Given the description of an element on the screen output the (x, y) to click on. 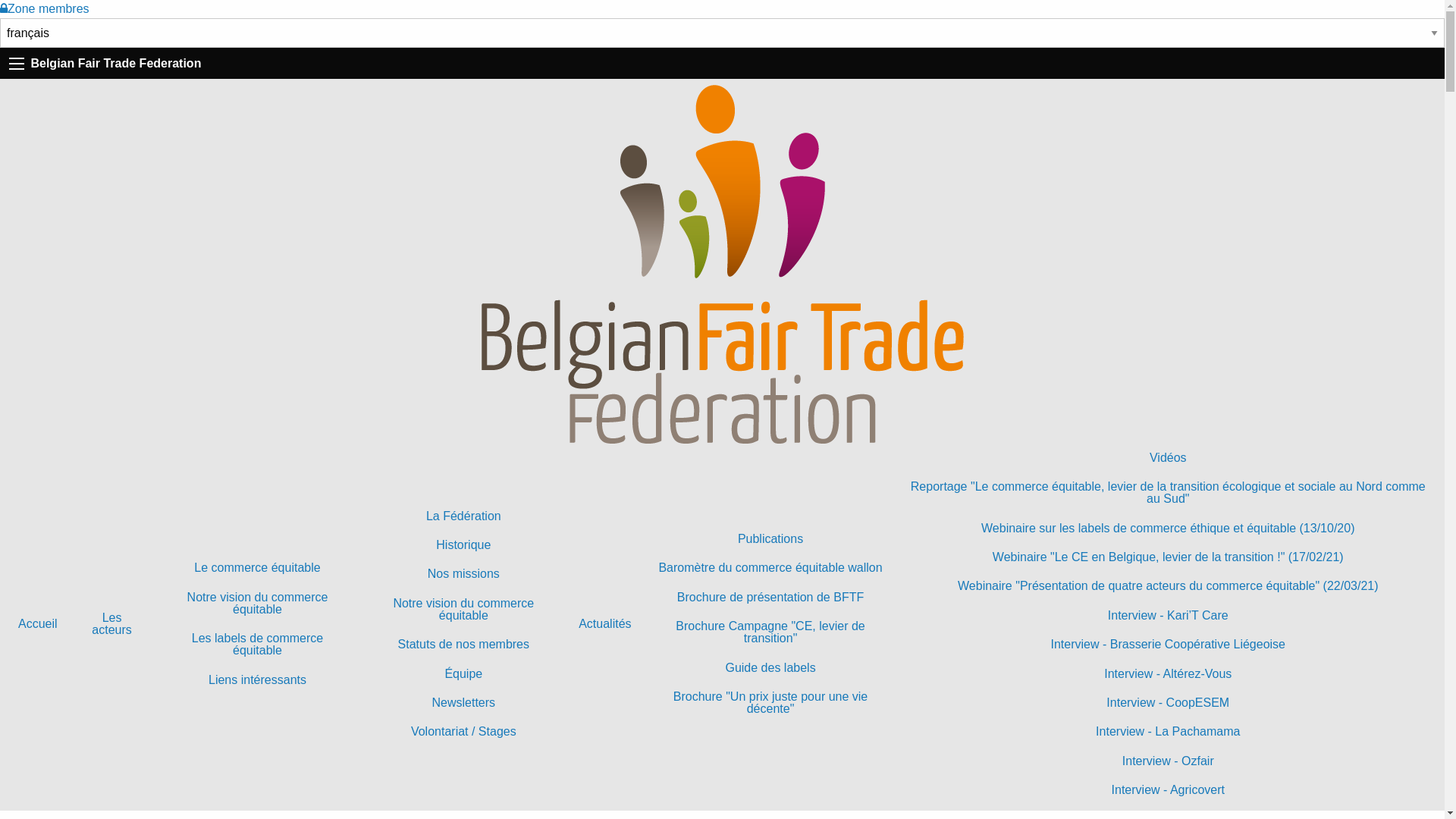
Les acteurs Element type: text (111, 623)
Guide des labels Element type: text (770, 666)
Interview - Agricovert Element type: text (1167, 789)
Accueil Element type: text (37, 623)
Interview - Ozfair Element type: text (1167, 760)
Zone membres Element type: text (44, 8)
Newsletters Element type: text (463, 702)
Statuts de nos membres Element type: text (463, 644)
Historique Element type: text (463, 544)
Nos missions Element type: text (463, 573)
Brochure Campagne "CE, levier de transition" Element type: text (770, 631)
Interview - CoopESEM Element type: text (1167, 702)
Interview - La Pachamama Element type: text (1167, 731)
Publications Element type: text (770, 538)
Volontariat / Stages Element type: text (463, 731)
